Given the description of an element on the screen output the (x, y) to click on. 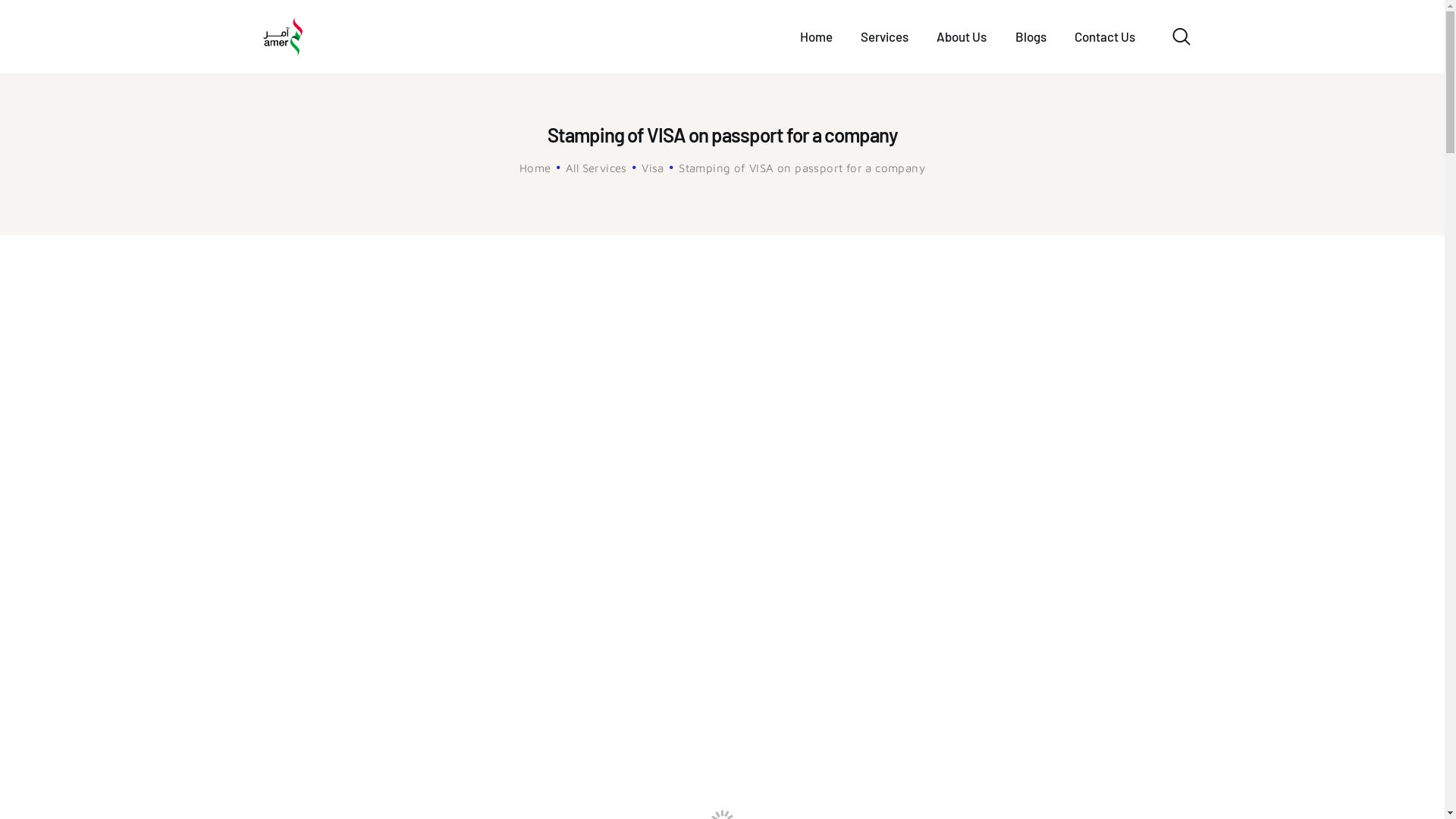
About Us Element type: text (961, 36)
Visa Element type: text (652, 167)
Home Element type: text (815, 36)
Services Element type: text (884, 36)
All Services Element type: text (596, 167)
Home Element type: text (535, 167)
Contact Us Element type: text (1104, 36)
Blogs Element type: text (1030, 36)
